Given the description of an element on the screen output the (x, y) to click on. 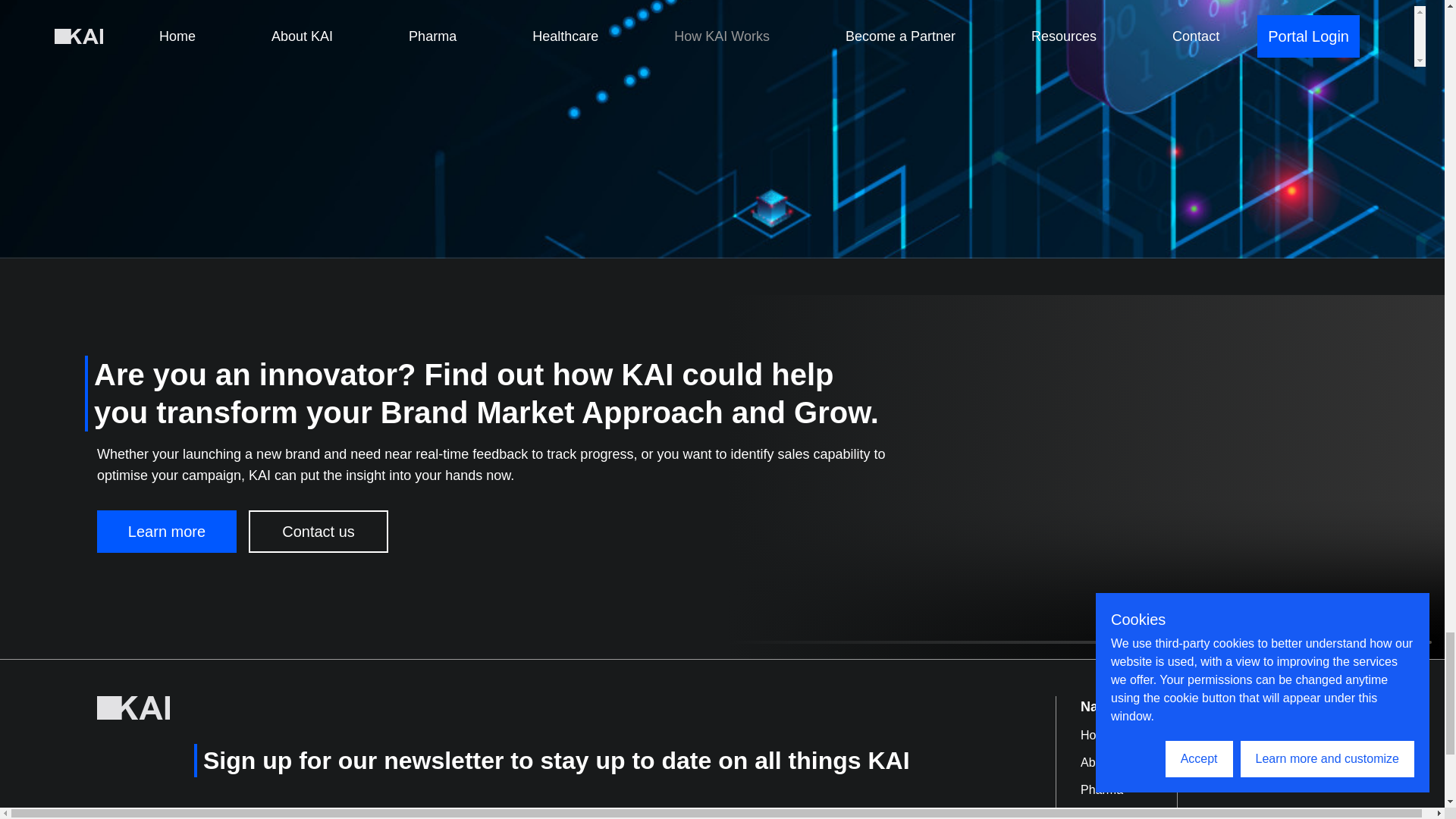
About KAI (1128, 758)
Contact us (318, 530)
Pharma (1128, 785)
Sign up (743, 816)
Learn more (166, 530)
Healthcare (1128, 809)
Home (1128, 730)
